Given the description of an element on the screen output the (x, y) to click on. 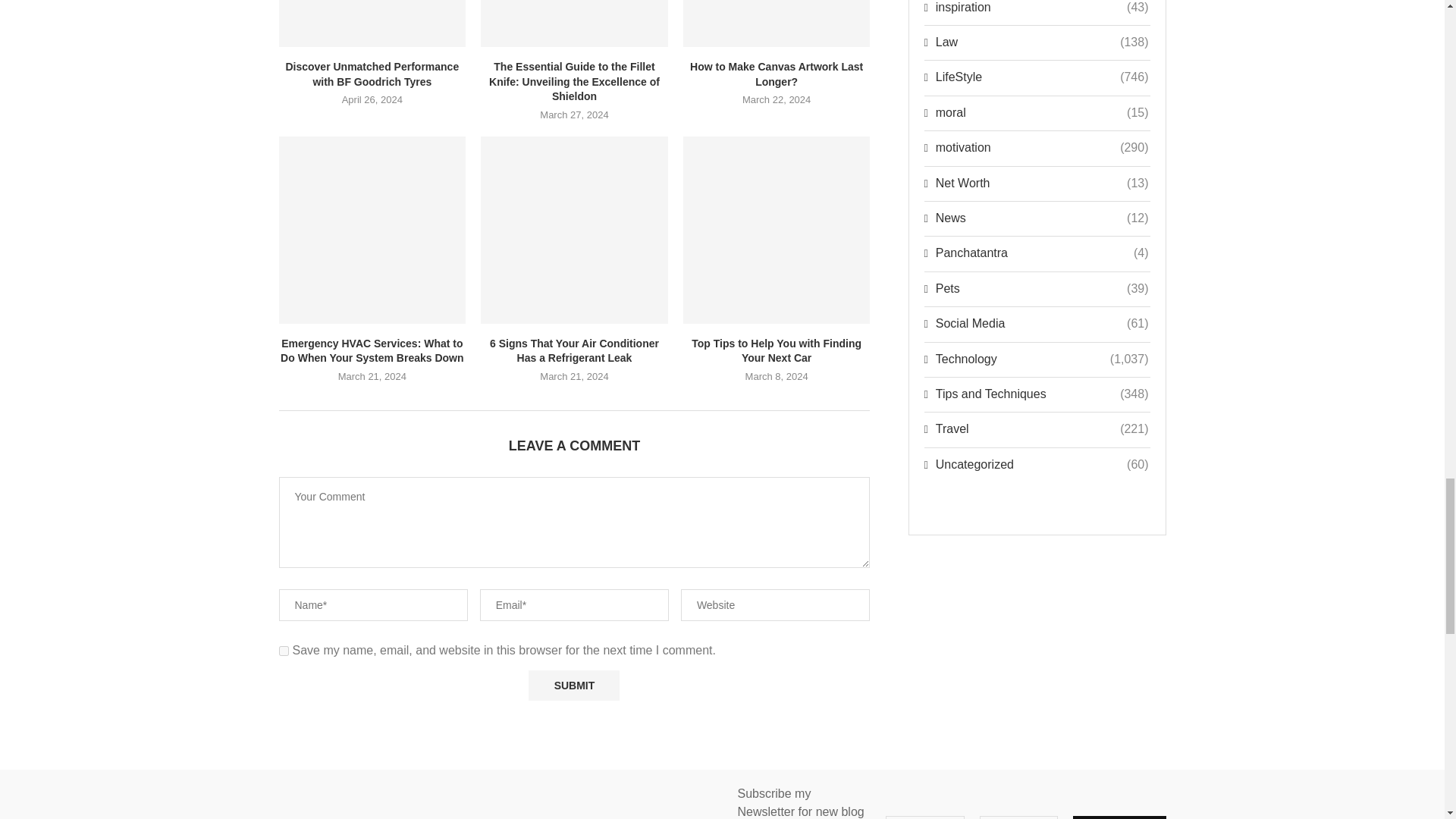
Subscribe (1119, 817)
How to Make Canvas Artwork Last Longer? (776, 23)
yes (283, 651)
Discover Unmatched Performance with BF Goodrich Tyres (372, 23)
6 Signs That Your Air Conditioner Has a Refrigerant Leak (574, 229)
Submit (574, 685)
